Given the description of an element on the screen output the (x, y) to click on. 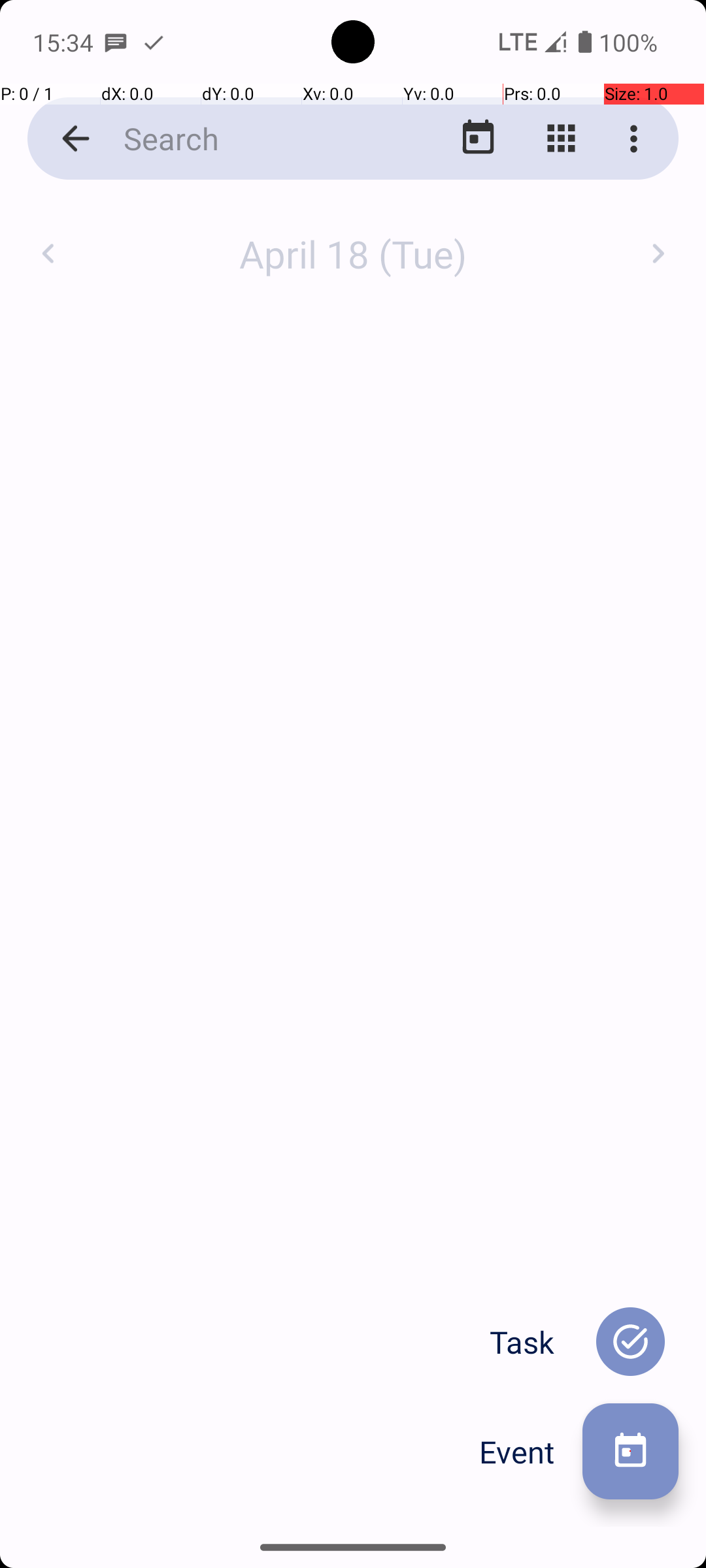
April Element type: android.widget.TextView (352, 239)
April 18 (Tue) Element type: android.widget.TextView (352, 253)
